Given the description of an element on the screen output the (x, y) to click on. 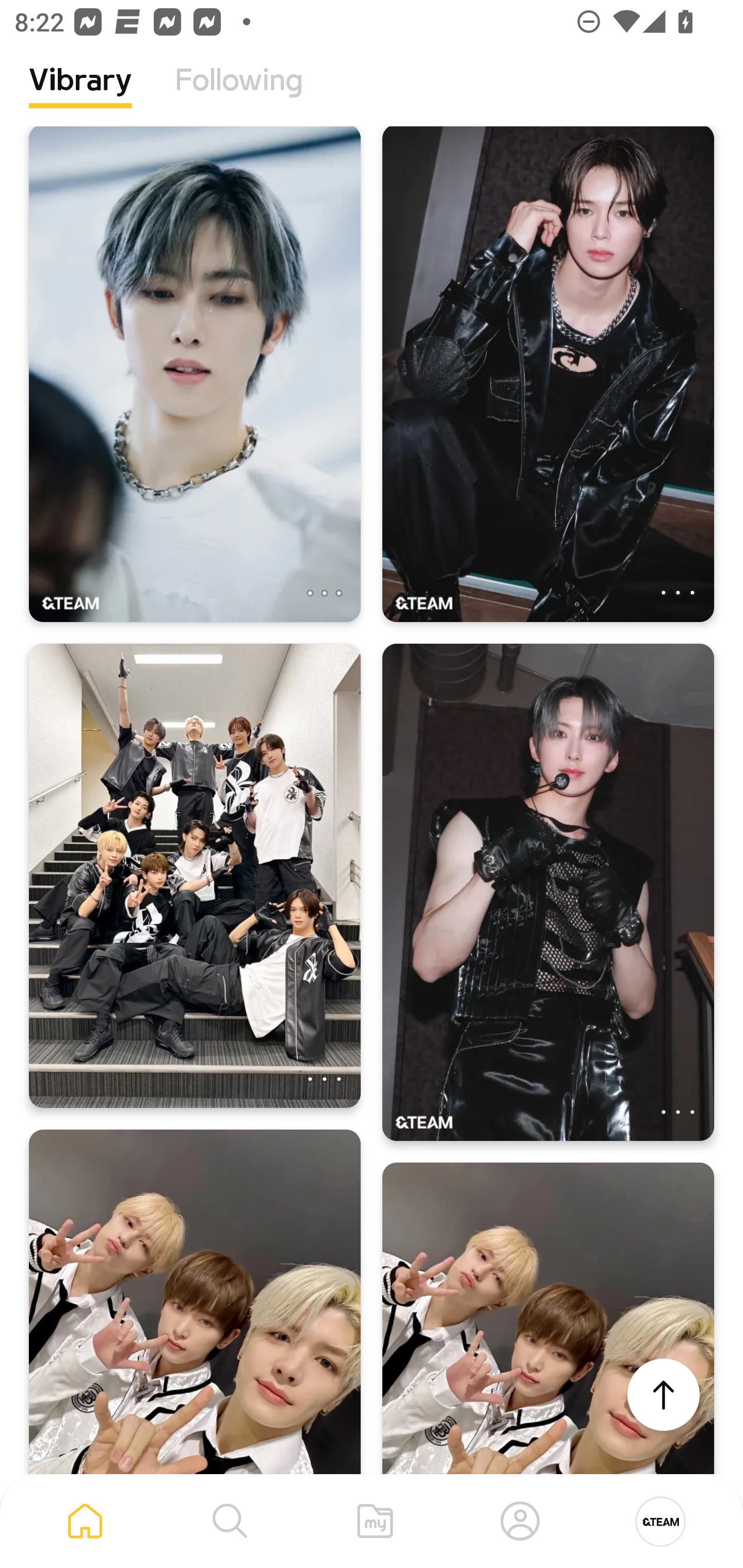
Vibrary (80, 95)
Following (239, 95)
